Given the description of an element on the screen output the (x, y) to click on. 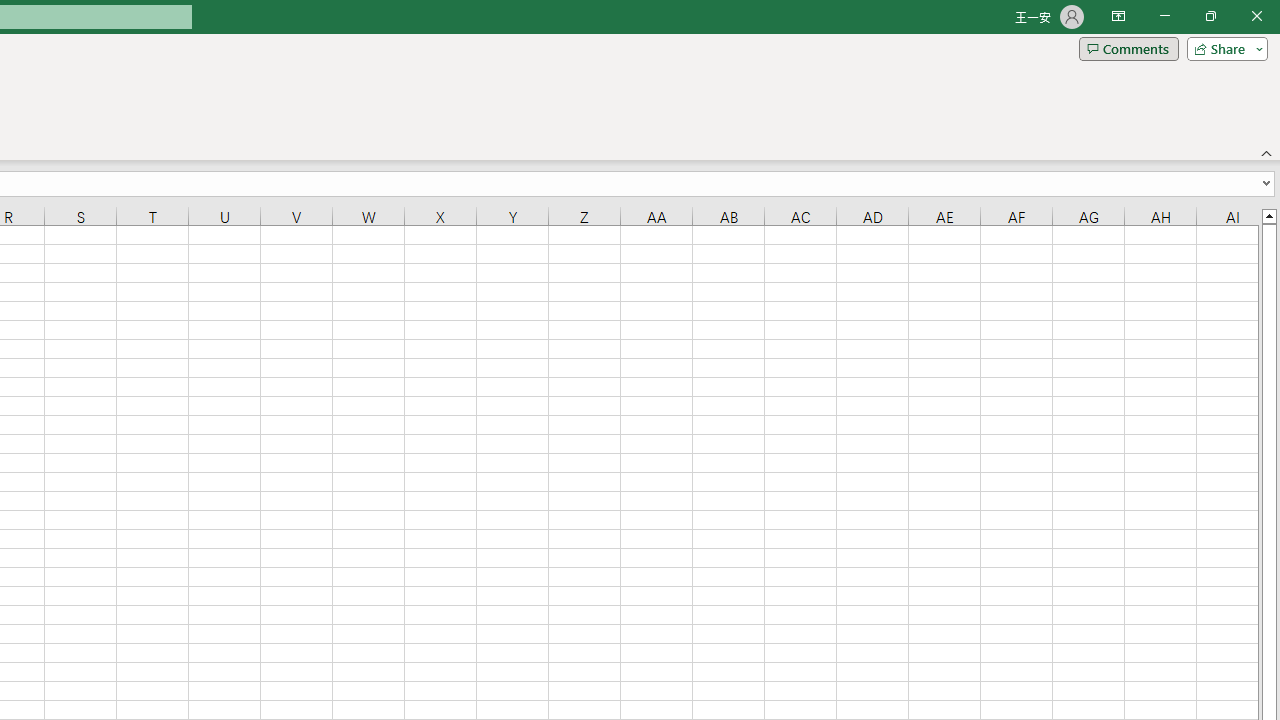
Ribbon Display Options (1118, 16)
Restore Down (1210, 16)
Minimize (1164, 16)
Share (1223, 48)
Collapse the Ribbon (1267, 152)
Line up (1268, 215)
